Given the description of an element on the screen output the (x, y) to click on. 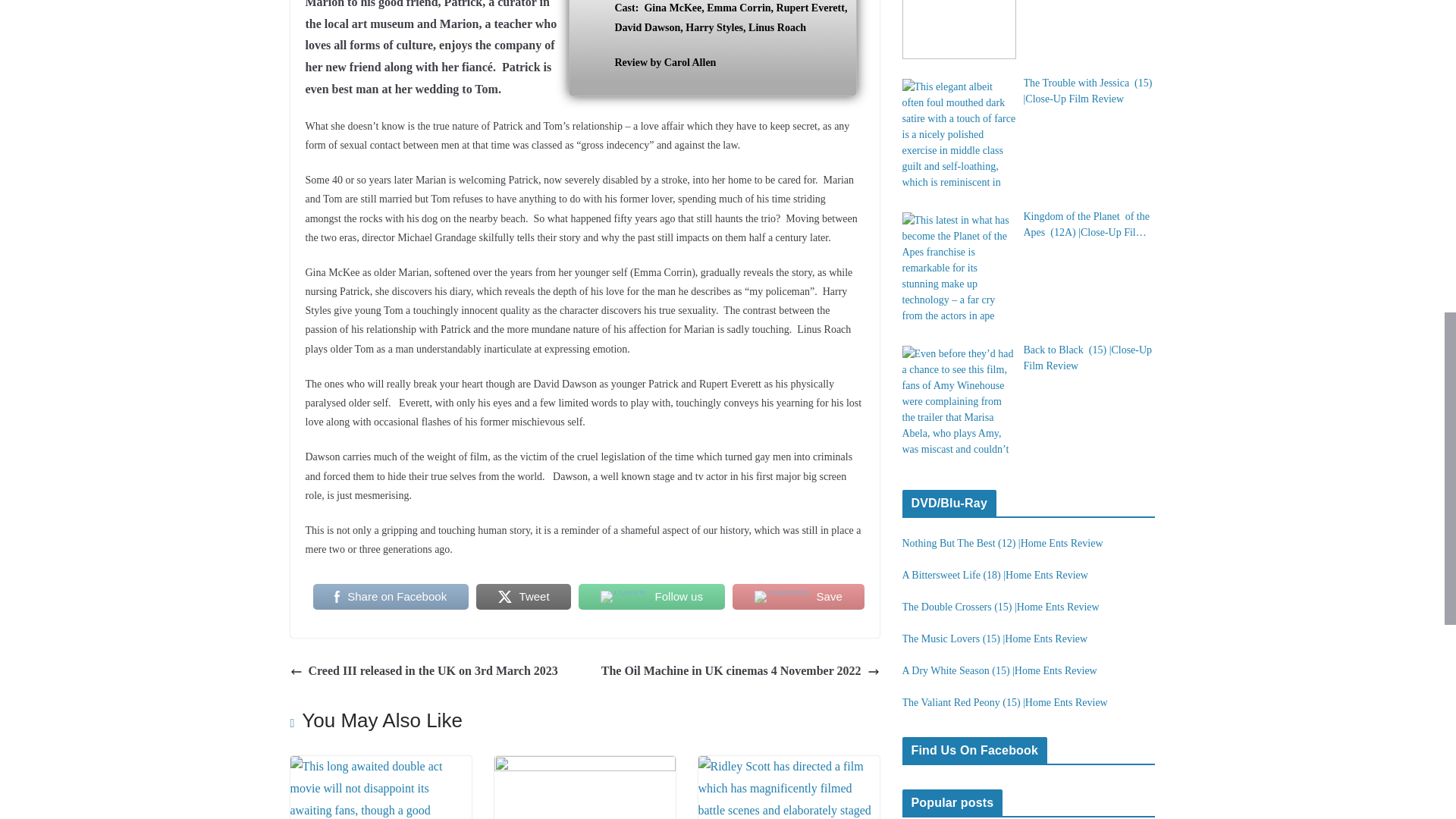
Tweet (524, 596)
Share on Facebook (390, 596)
Creed III released in the UK on 3rd March 2023  (424, 671)
Follow us (650, 596)
The Oil Machine in UK cinemas 4 November 2022 (740, 671)
Save (798, 596)
